Given the description of an element on the screen output the (x, y) to click on. 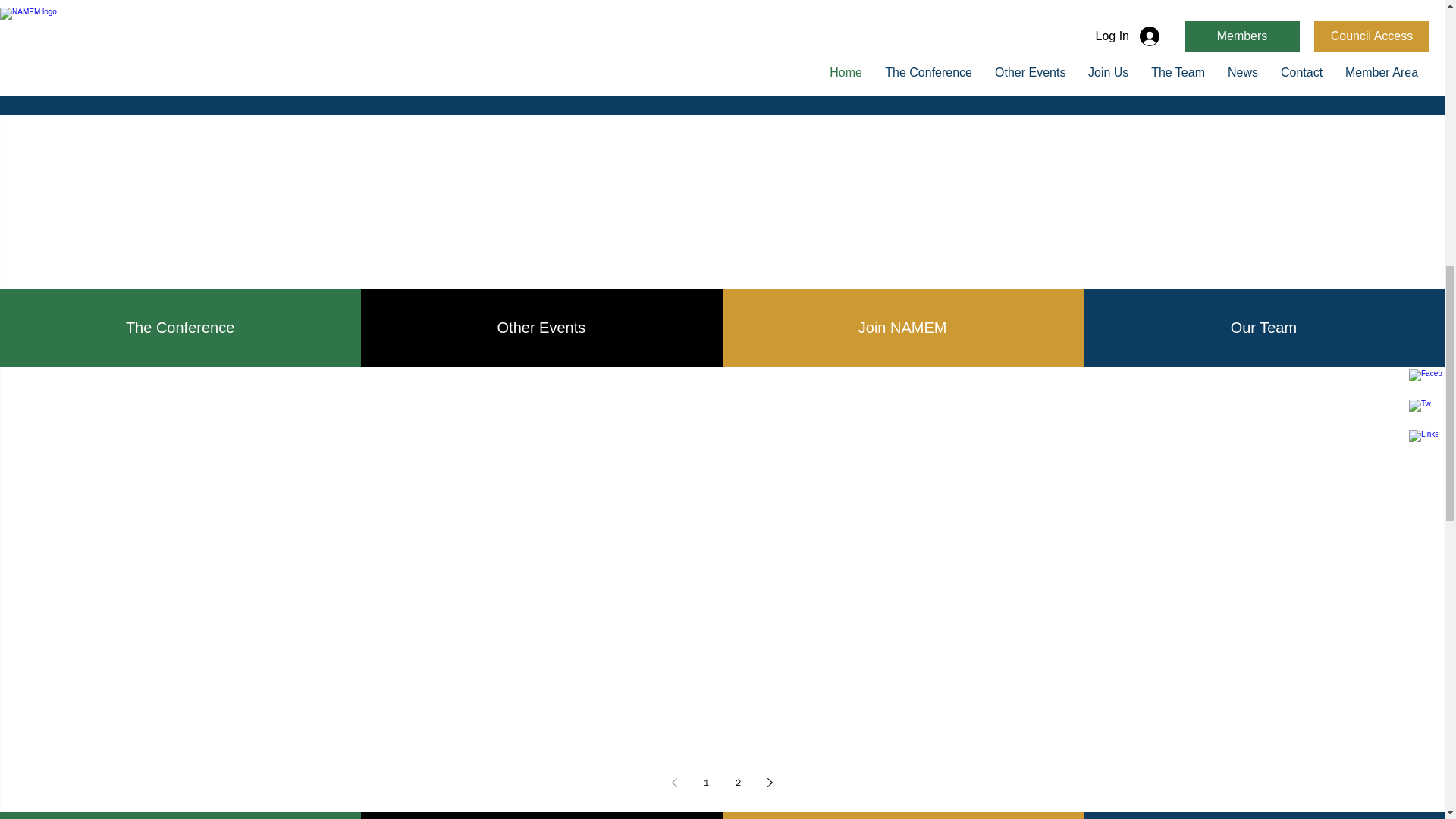
Other Events (541, 327)
2 (738, 782)
The Conference (179, 327)
Join NAMEM (903, 327)
Our Team (1263, 327)
